Given the description of an element on the screen output the (x, y) to click on. 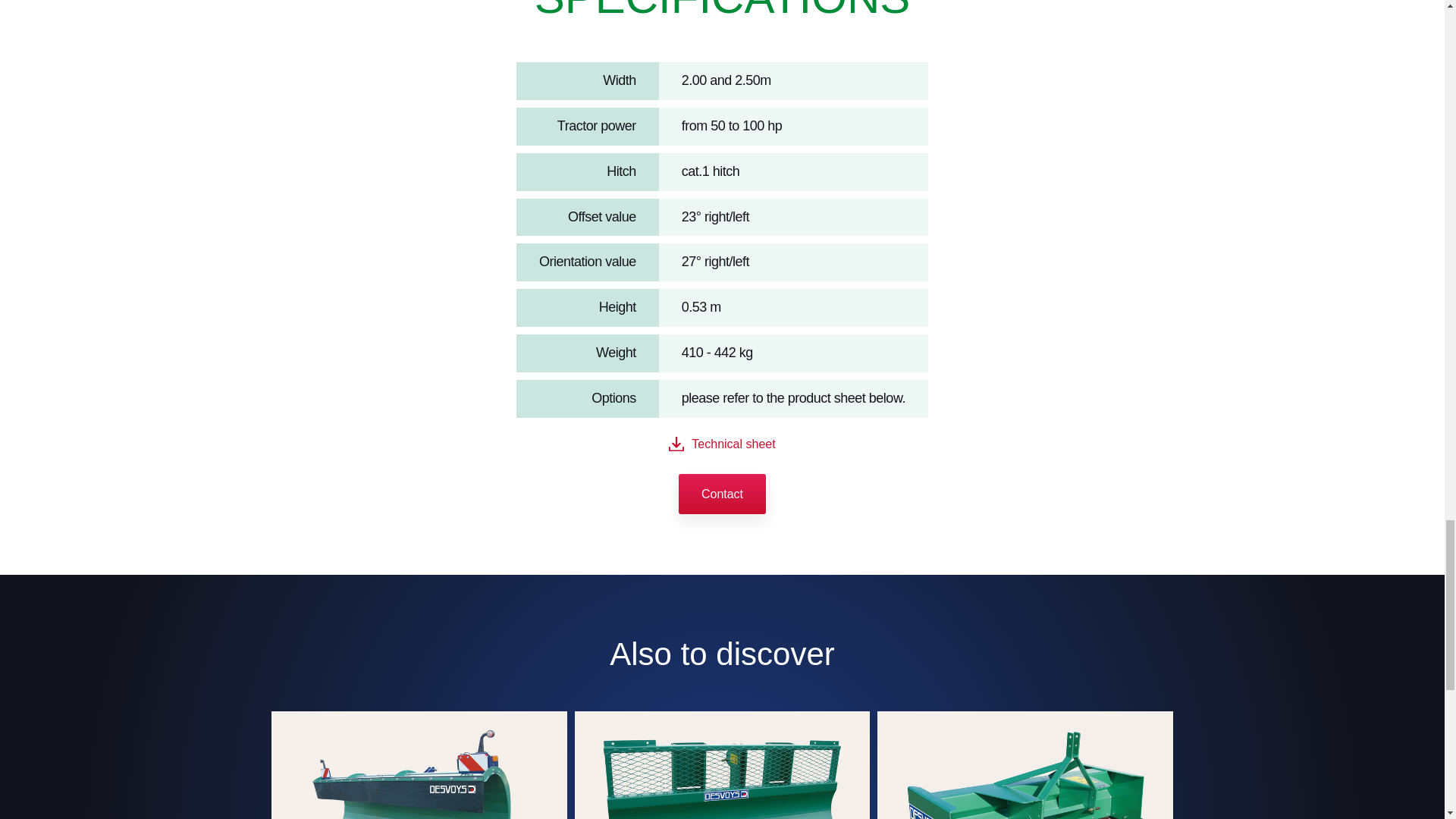
Silage blades (722, 765)
Manure scrapers junior series (1024, 765)
Snow clearing blades (419, 765)
Manure scrapers junior series (1024, 765)
Contact (721, 494)
Silage blades (722, 765)
Technical sheet (721, 443)
Snow clearing blades (419, 765)
